Given the description of an element on the screen output the (x, y) to click on. 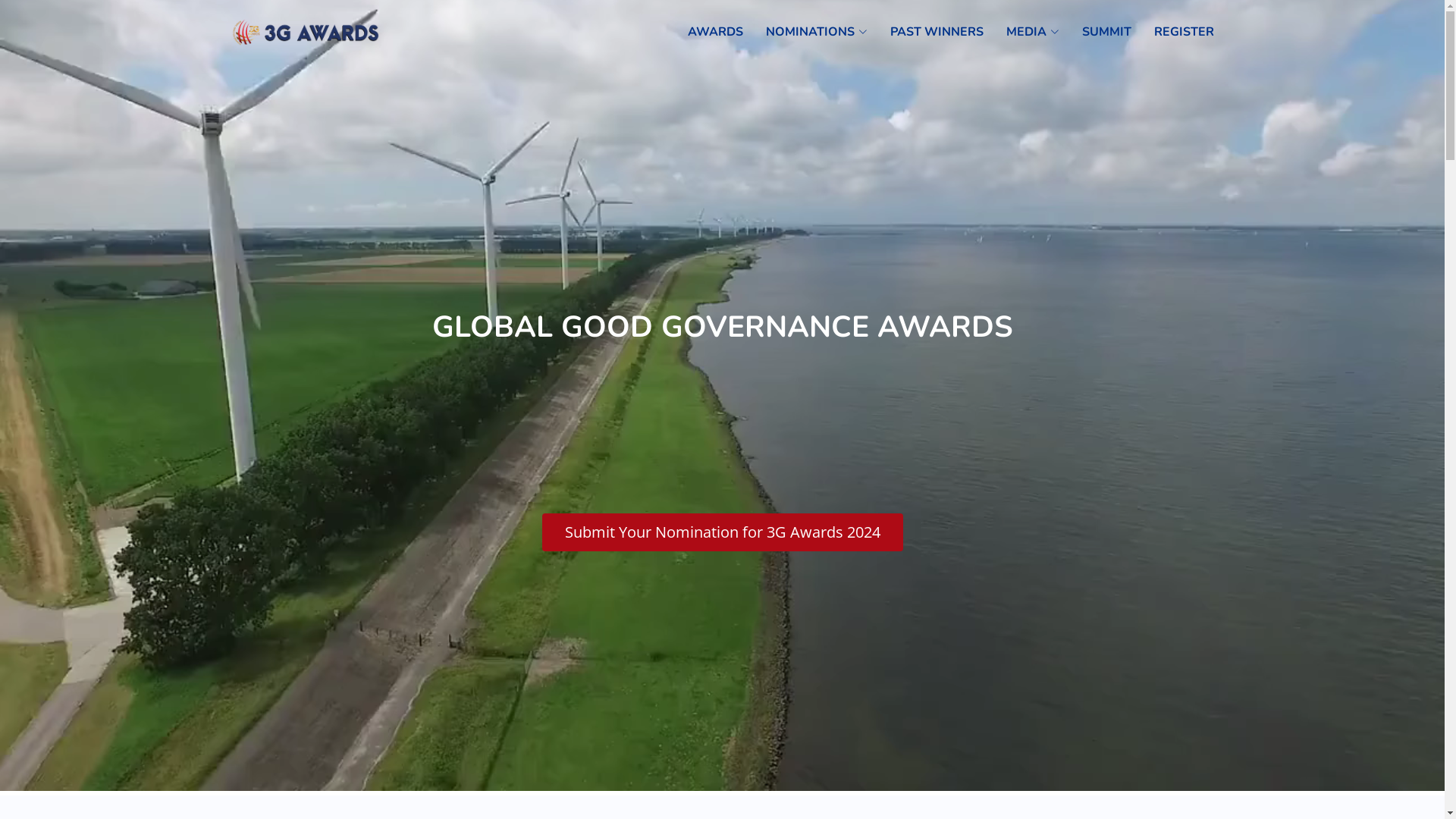
NOMINATIONS Element type: text (805, 31)
SUMMIT Element type: text (1094, 31)
Submit Your Nomination for 3G Awards 2024 Element type: text (721, 532)
PAST WINNERS Element type: text (925, 31)
REGISTER Element type: text (1172, 31)
MEDIA Element type: text (1020, 31)
AWARDS Element type: text (703, 31)
Submit Your Nomination for 3G Awards 2024 Element type: text (721, 531)
